Given the description of an element on the screen output the (x, y) to click on. 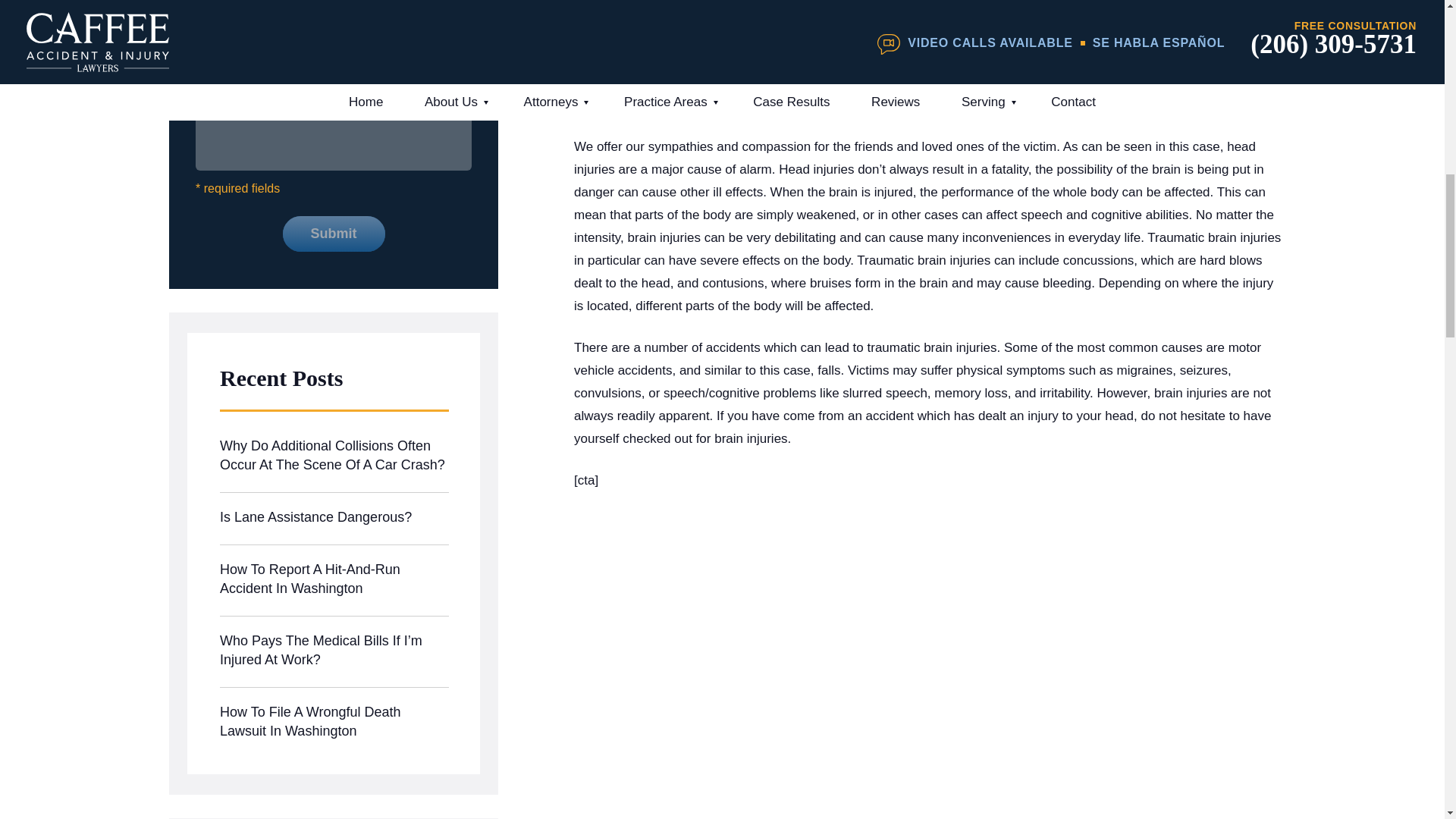
Is Lane Assistance Dangerous? (333, 518)
How To Report A Hit-And-Run Accident In Washington (333, 580)
Submit (333, 233)
How To File A Wrongful Death Lawsuit In Washington (333, 722)
